Given the description of an element on the screen output the (x, y) to click on. 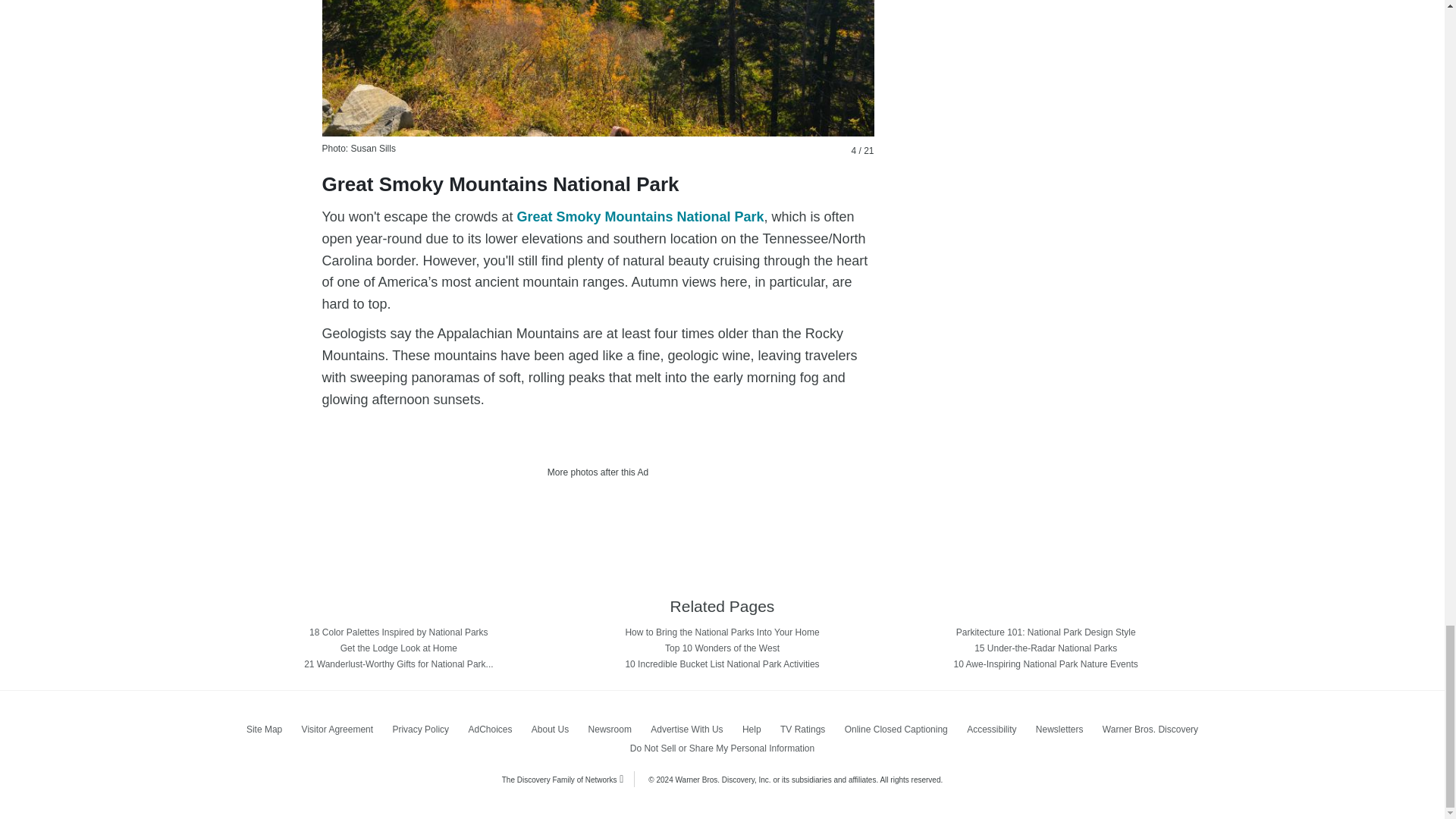
Great Smoky Mountains National Park (597, 68)
3rd party ad content (597, 519)
